Given the description of an element on the screen output the (x, y) to click on. 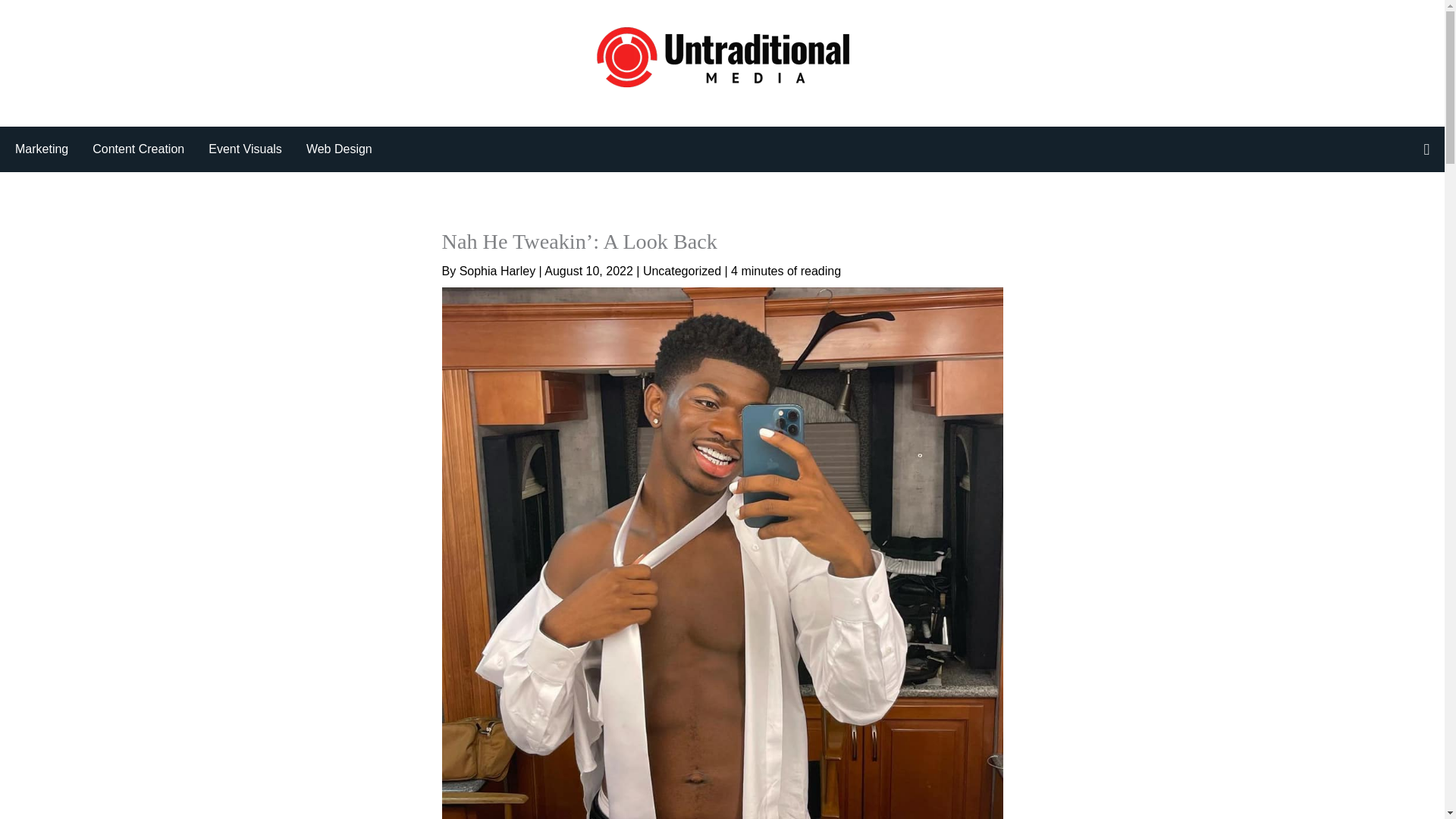
Uncategorized (681, 270)
View all posts by Sophia Harley (499, 270)
Marketing (53, 148)
Content Creation (150, 148)
Sophia Harley (499, 270)
Web Design (338, 148)
Event Visuals (256, 148)
